Given the description of an element on the screen output the (x, y) to click on. 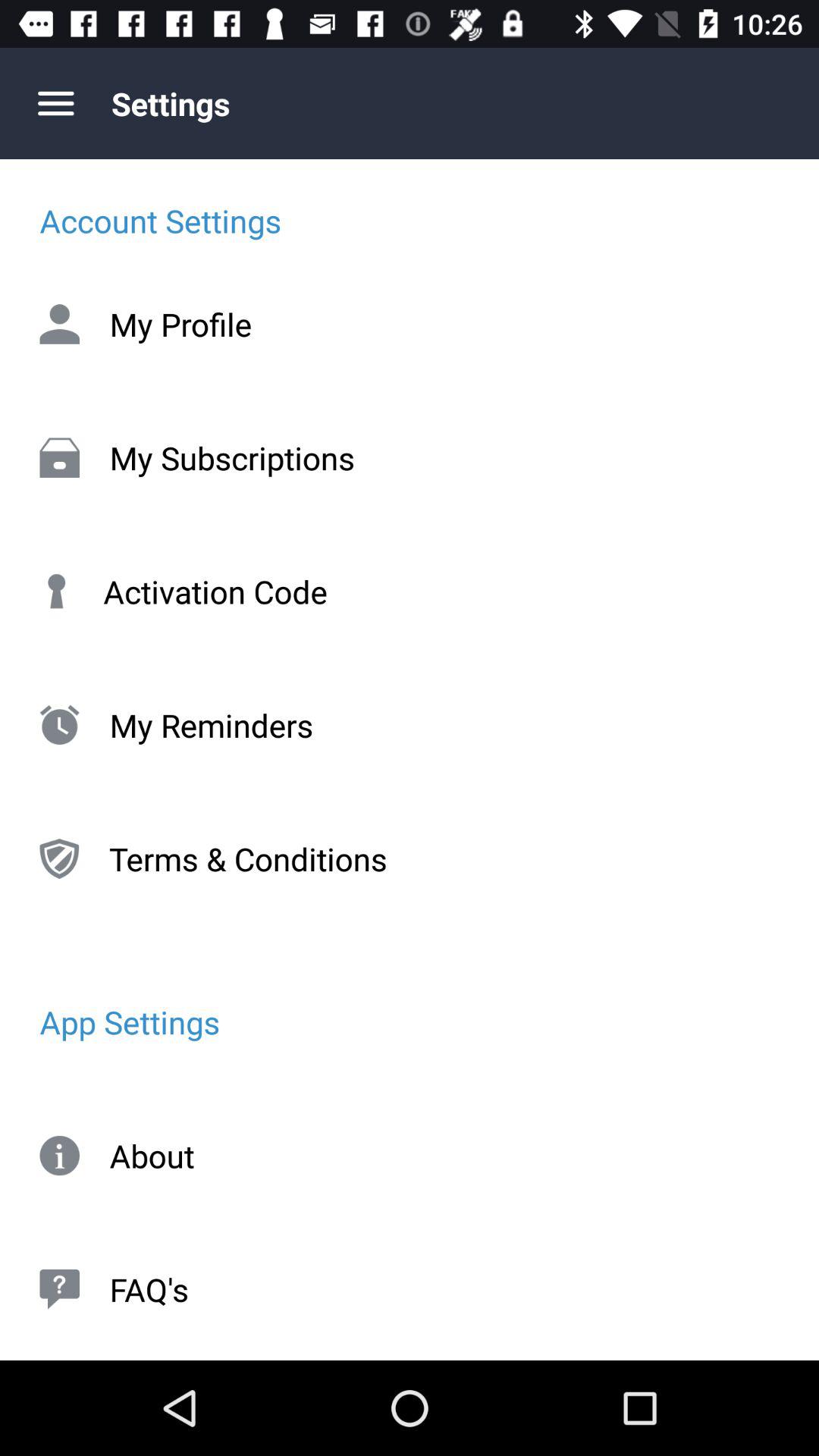
choose the item above my subscriptions icon (409, 323)
